Given the description of an element on the screen output the (x, y) to click on. 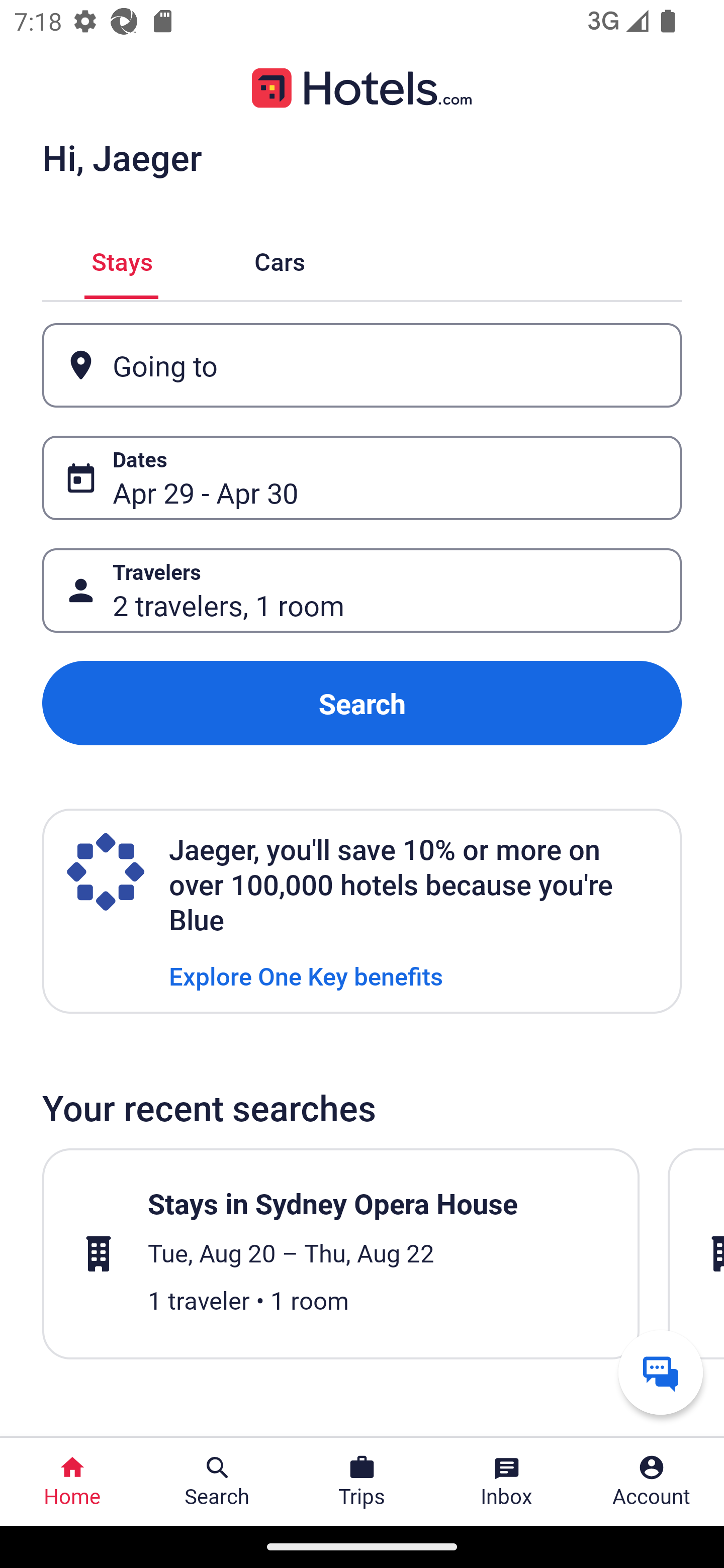
Hi, Jaeger (121, 156)
Cars (279, 259)
Going to Button (361, 365)
Dates Button Apr 29 - Apr 30 (361, 477)
Travelers Button 2 travelers, 1 room (361, 590)
Search (361, 702)
Get help from a virtual agent (660, 1371)
Search Search Button (216, 1481)
Trips Trips Button (361, 1481)
Inbox Inbox Button (506, 1481)
Account Profile. Button (651, 1481)
